Given the description of an element on the screen output the (x, y) to click on. 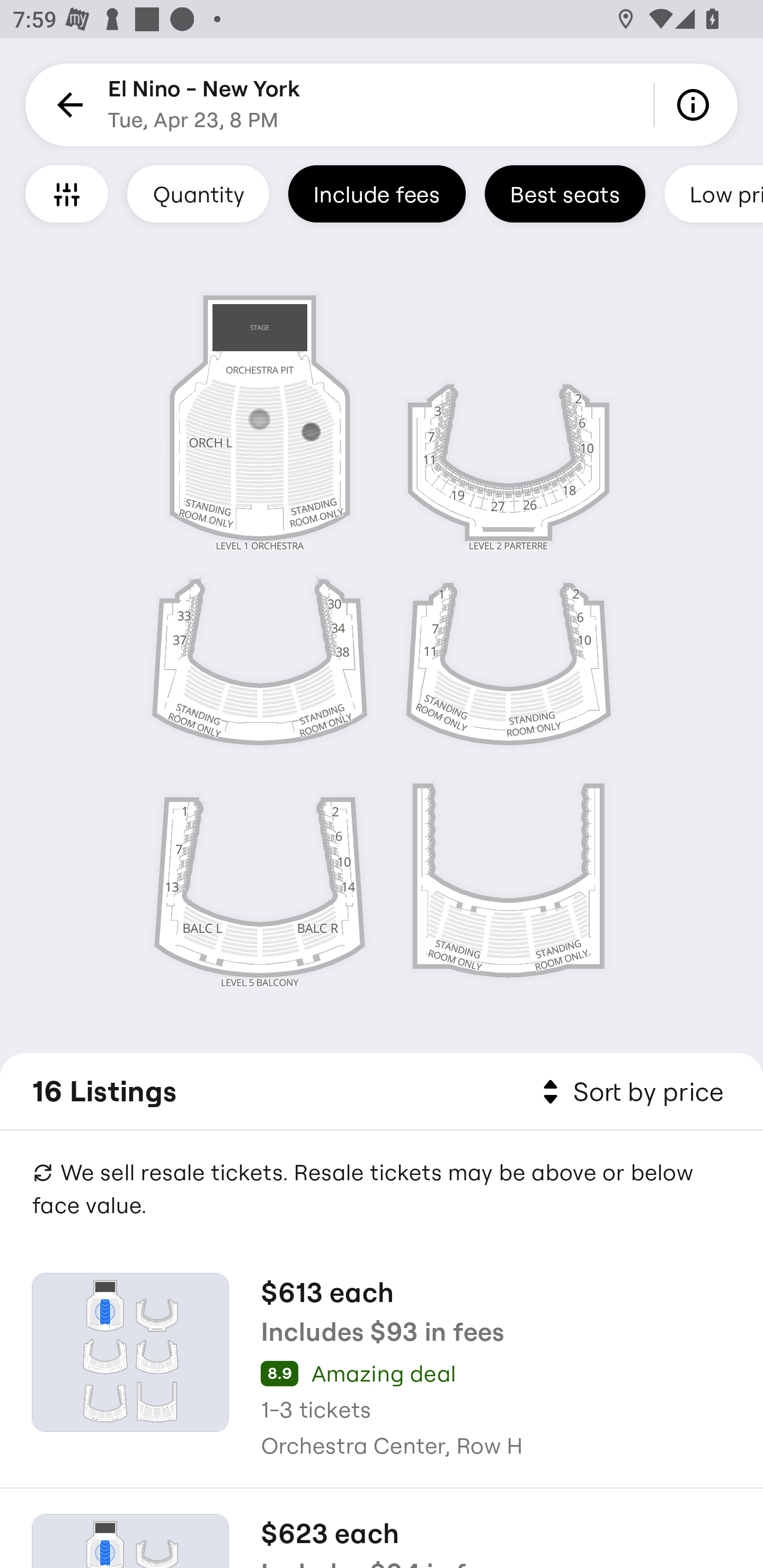
Back El Nino - New York Tue, Apr 23, 8 PM Info (381, 104)
Back (66, 104)
El Nino - New York Tue, Apr 23, 8 PM (204, 104)
Info (695, 104)
Filters and Accessible Seating (66, 193)
Quantity (198, 193)
Include fees (376, 193)
Best seats (564, 193)
Low prices (713, 193)
Sort by price (629, 1091)
